Given the description of an element on the screen output the (x, y) to click on. 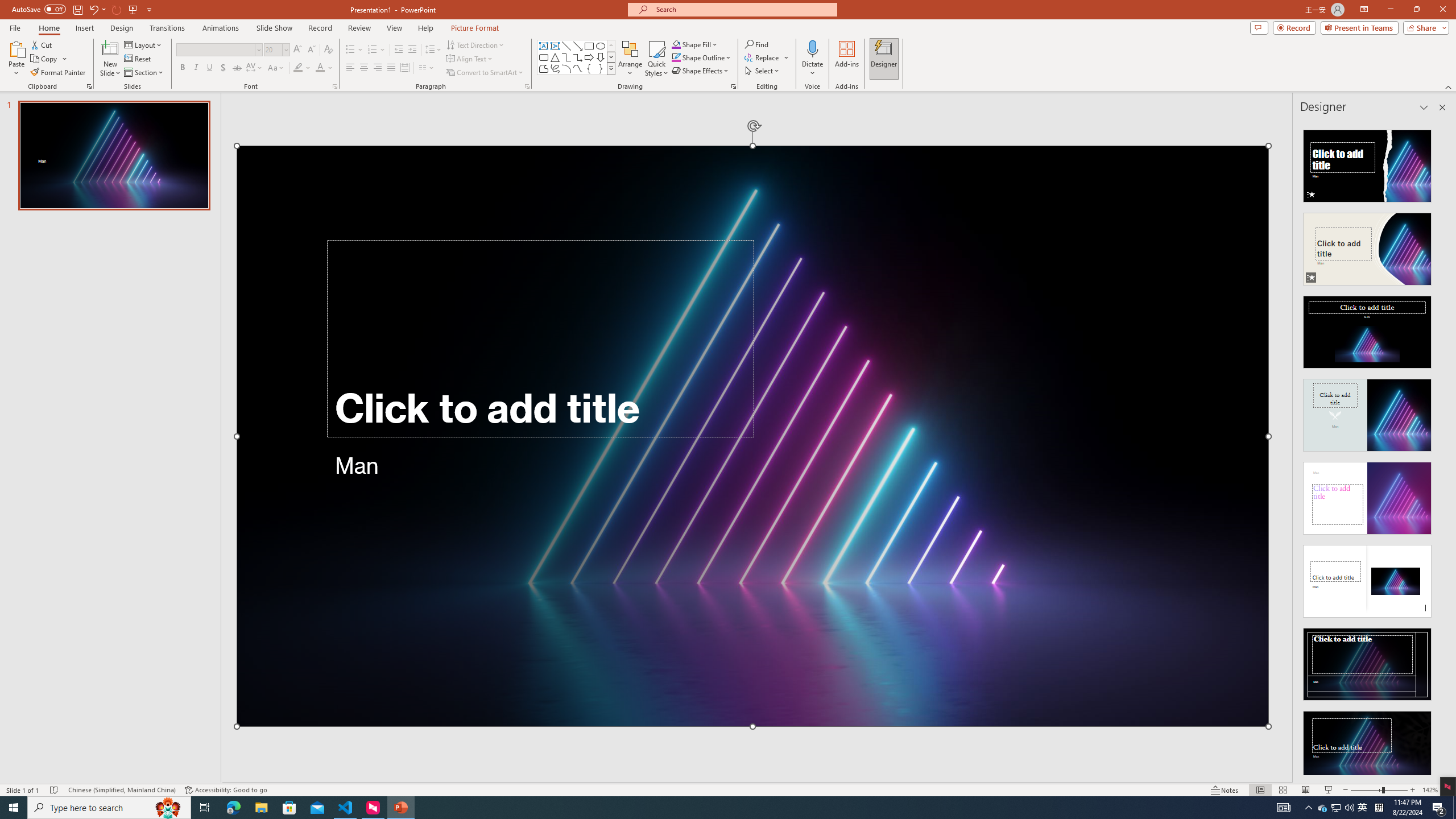
Recommended Design: Animation (1366, 162)
Zoom 142% (1430, 790)
